Given the description of an element on the screen output the (x, y) to click on. 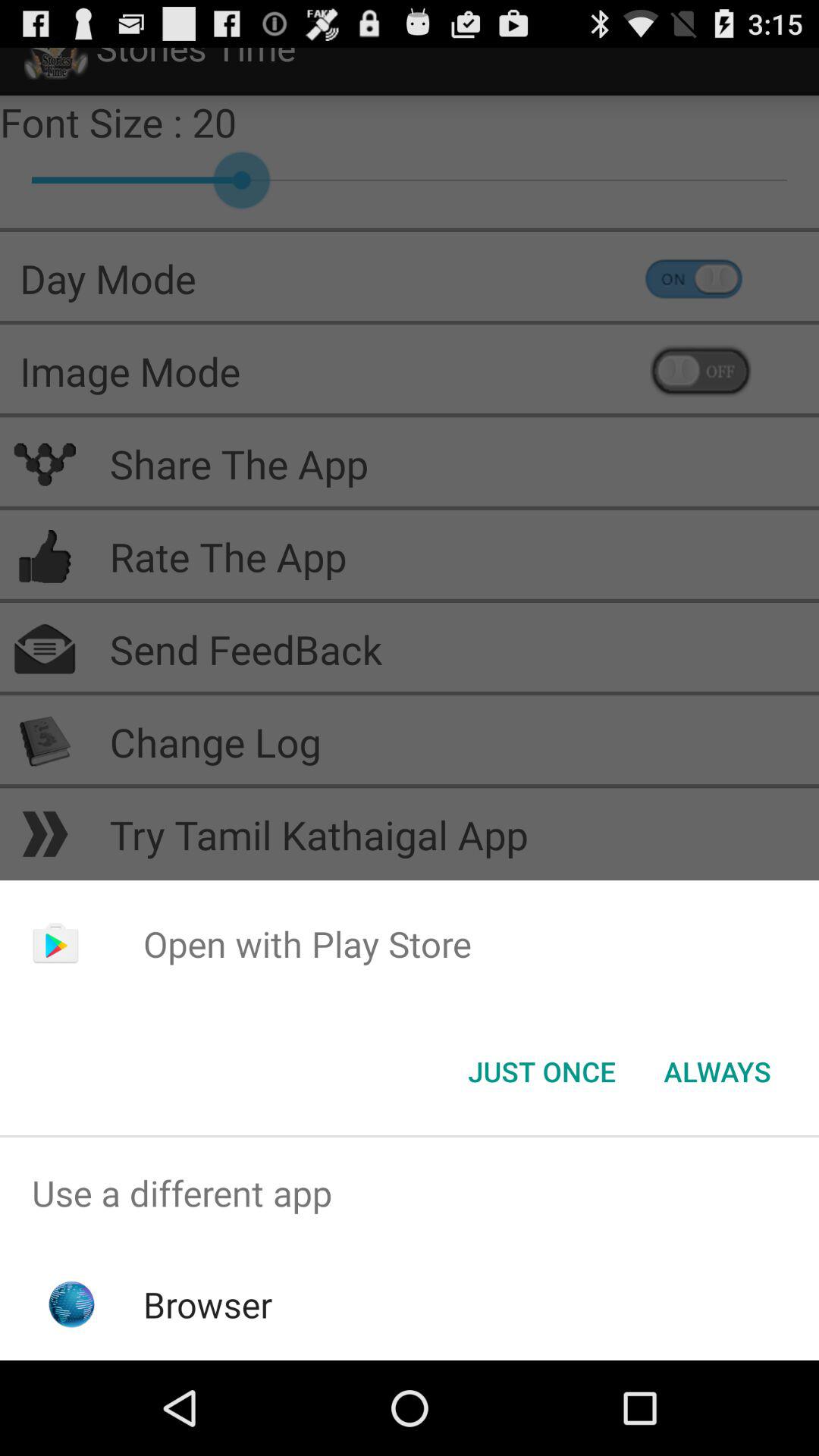
jump until the browser (207, 1304)
